Given the description of an element on the screen output the (x, y) to click on. 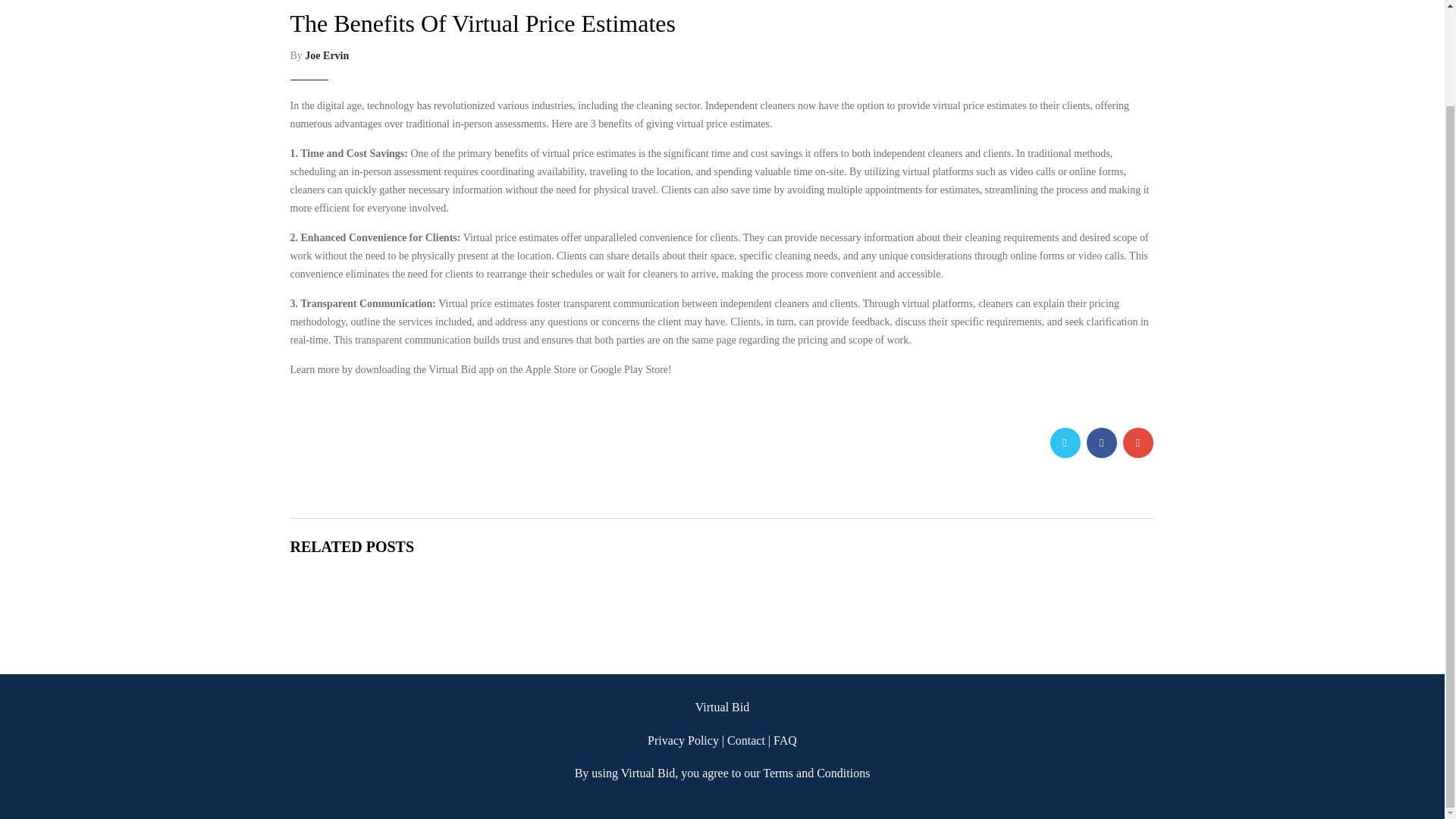
Contact (745, 739)
Joe Ervin (326, 55)
Posts by Joe Ervin (326, 55)
FAQ (784, 739)
Terms and Conditions (815, 772)
Privacy Policy (683, 739)
